Given the description of an element on the screen output the (x, y) to click on. 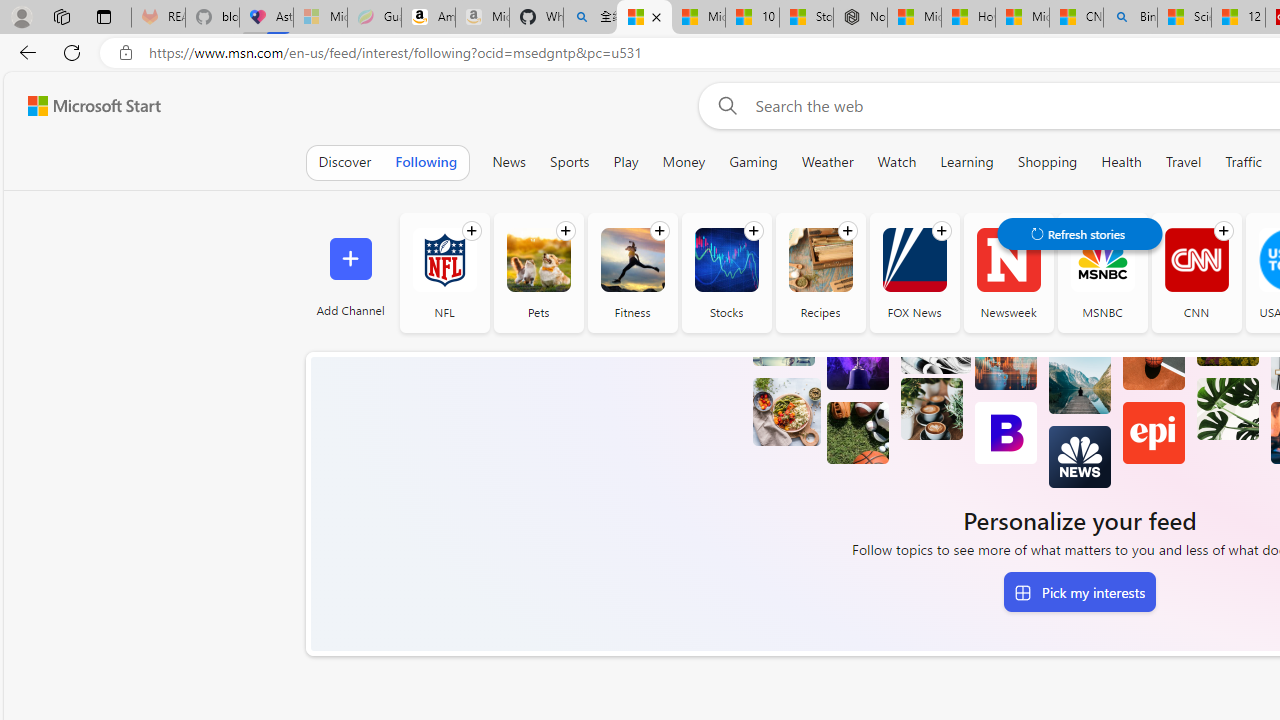
NFL (444, 272)
Shopping (1047, 162)
Learning (966, 161)
Health (1121, 162)
Traffic (1243, 161)
Shopping (1047, 161)
Traffic (1243, 162)
MSNBC (1102, 272)
CNN (1195, 272)
Science - MSN (1184, 17)
Recipes (820, 272)
Web search (724, 105)
